Given the description of an element on the screen output the (x, y) to click on. 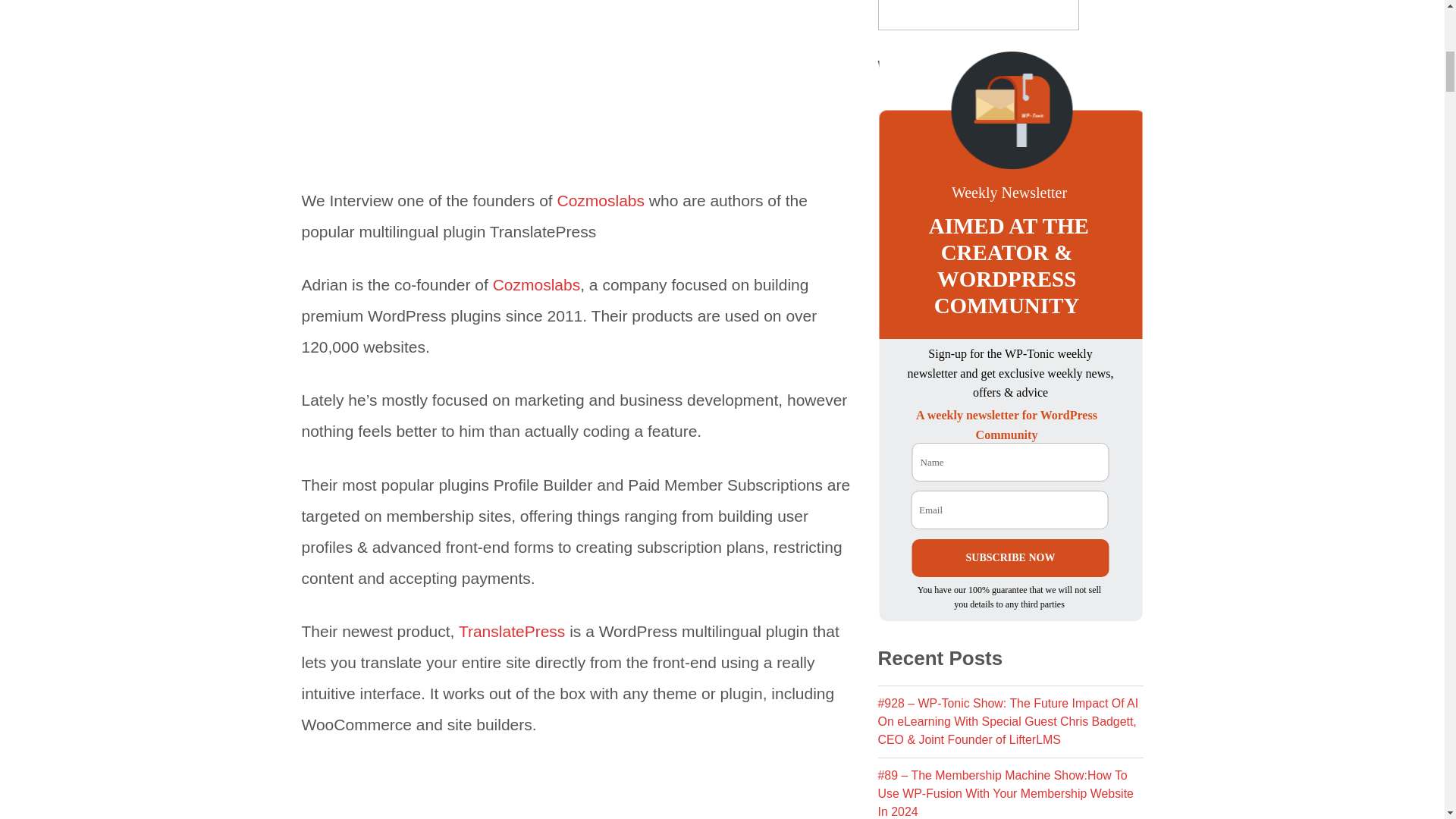
Cozmoslabs (536, 284)
Cozmoslabs (600, 200)
TranslatePress (511, 630)
